Given the description of an element on the screen output the (x, y) to click on. 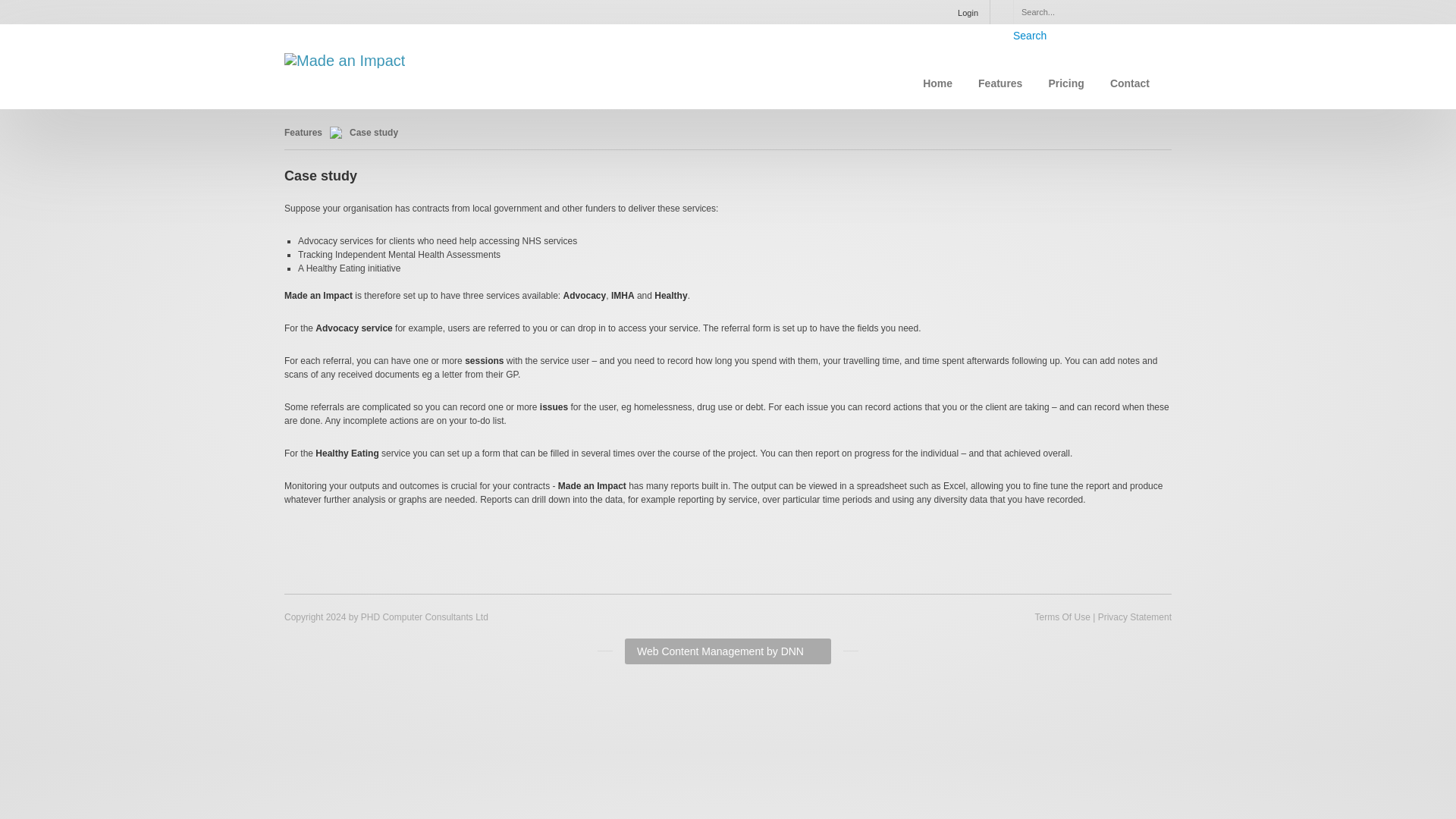
Case study (373, 132)
Made an Impact (343, 58)
Search (1029, 35)
Terms Of Use (1061, 616)
Web Content Management by DNN (727, 651)
PHD Computer Consultants Ltd (424, 616)
Login (968, 12)
Login (968, 12)
Pricing (1065, 83)
Contact (1129, 83)
Features (999, 83)
Clear search text (1132, 10)
Home (937, 83)
Privacy Statement (1134, 616)
Features (302, 132)
